Given the description of an element on the screen output the (x, y) to click on. 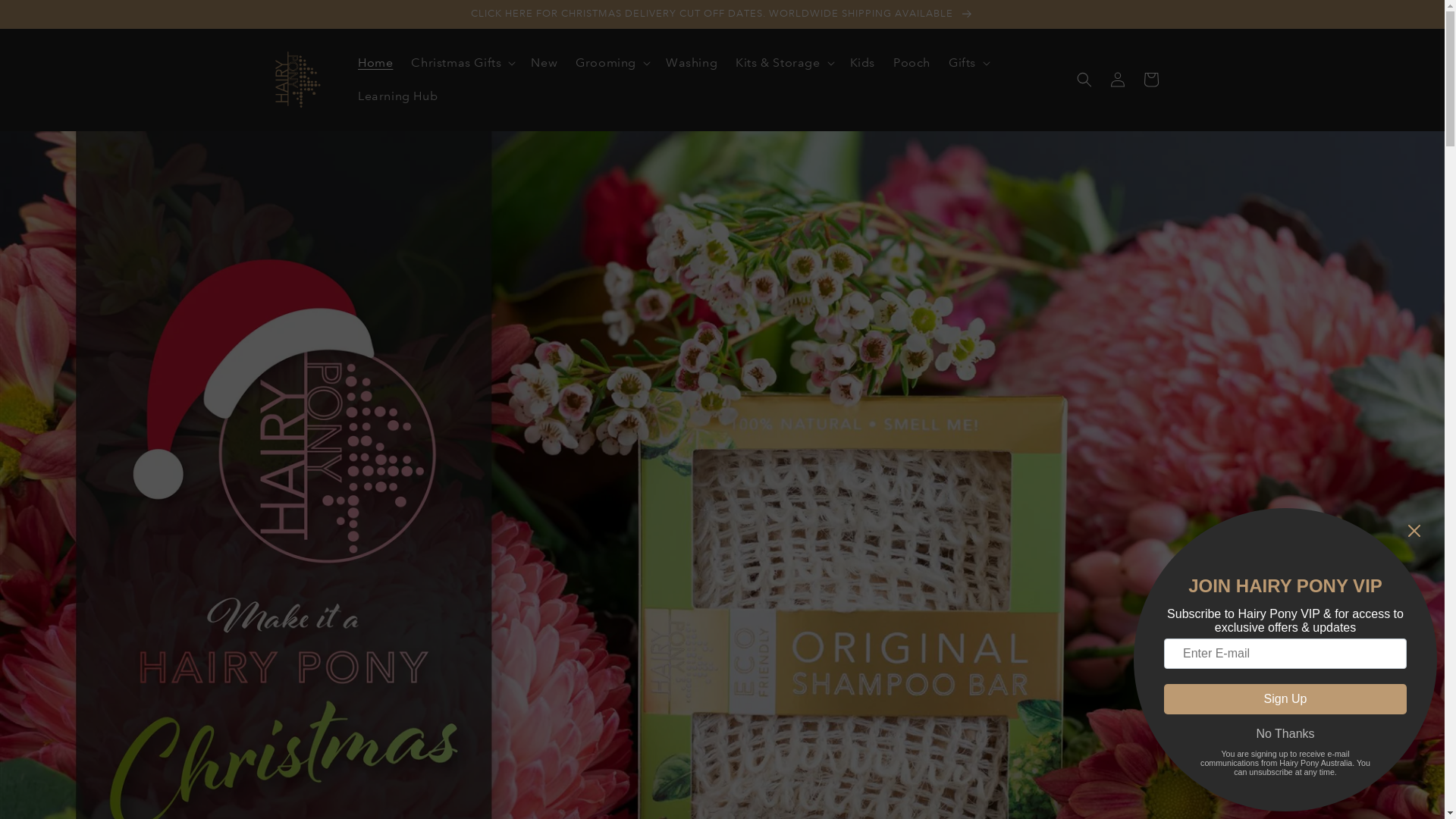
Washing Element type: text (691, 63)
Pooch Element type: text (911, 63)
Kids Element type: text (862, 63)
Learning Hub Element type: text (397, 96)
Log in Element type: text (1117, 79)
New Element type: text (543, 63)
Cart Element type: text (1150, 79)
Home Element type: text (374, 63)
